Given the description of an element on the screen output the (x, y) to click on. 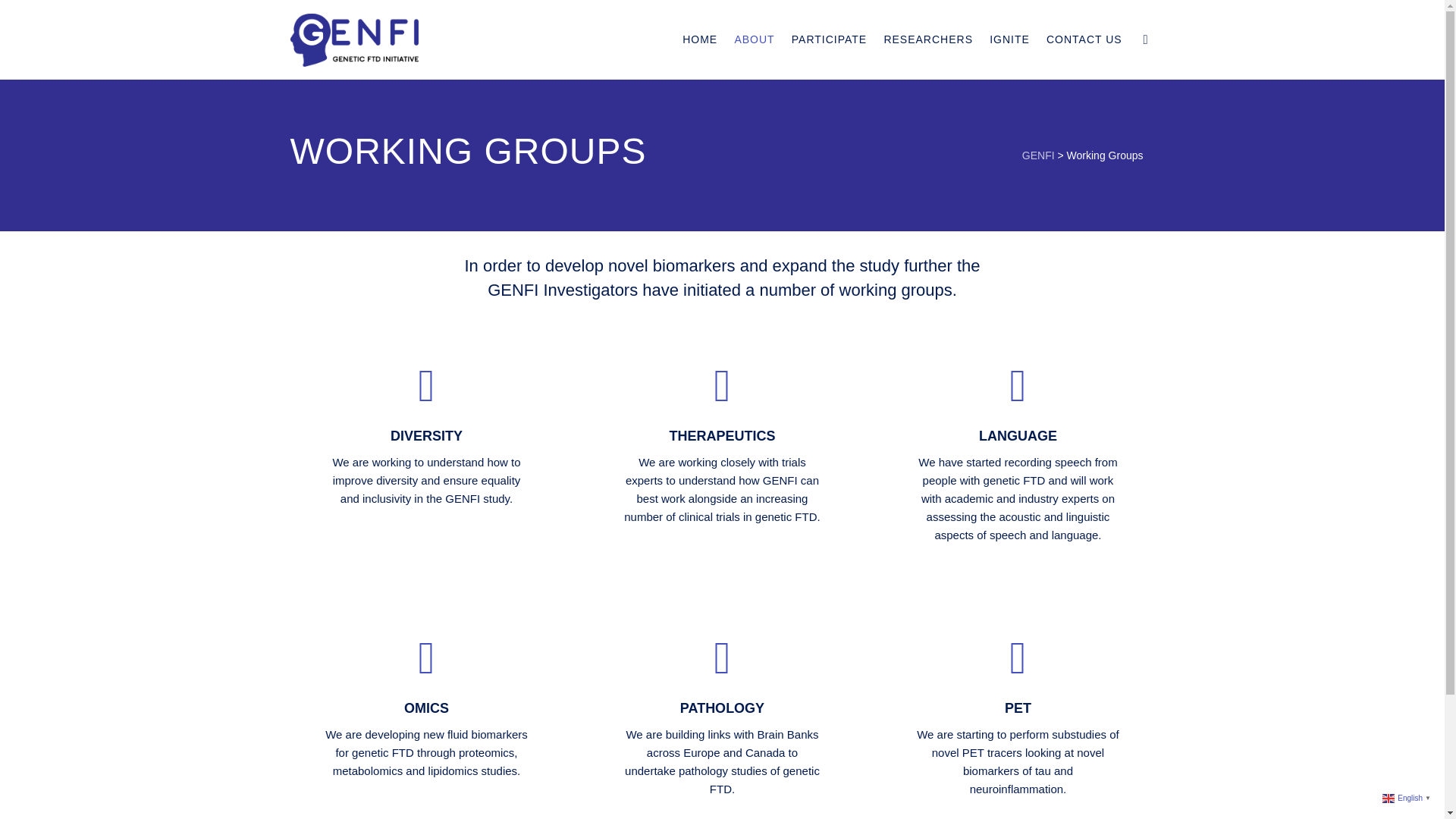
Go to GENFI. (1038, 155)
GENFI (354, 39)
PARTICIPATE (829, 39)
RESEARCHERS (927, 39)
GENFI (1038, 155)
CONTACT US (1084, 39)
